Given the description of an element on the screen output the (x, y) to click on. 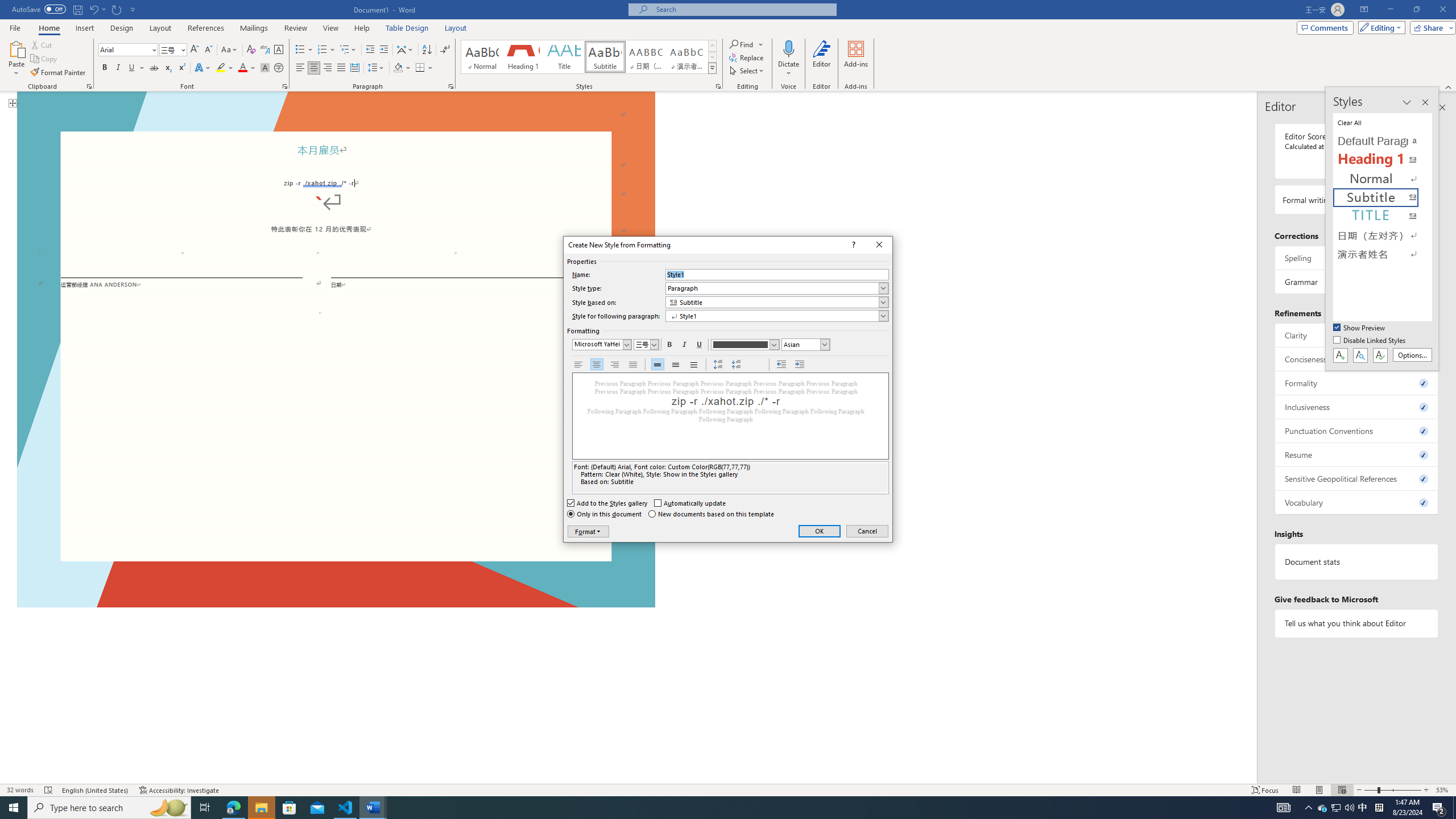
AutomationID: QuickStylesGallery (588, 56)
Title (564, 56)
Undo Paste (96, 9)
Context help (853, 244)
Notification Chevron (1308, 807)
